Given the description of an element on the screen output the (x, y) to click on. 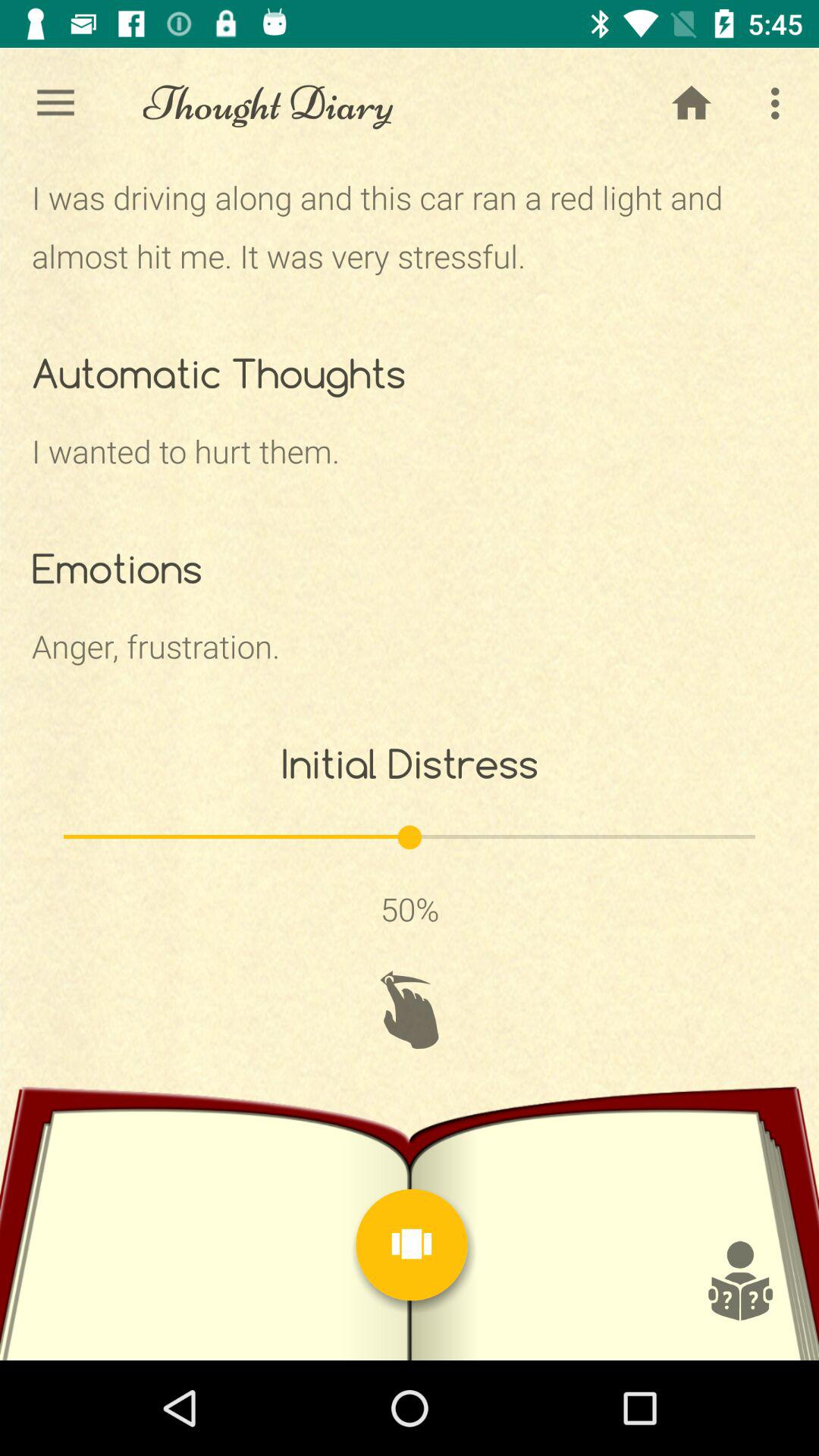
menu button (411, 1244)
